Given the description of an element on the screen output the (x, y) to click on. 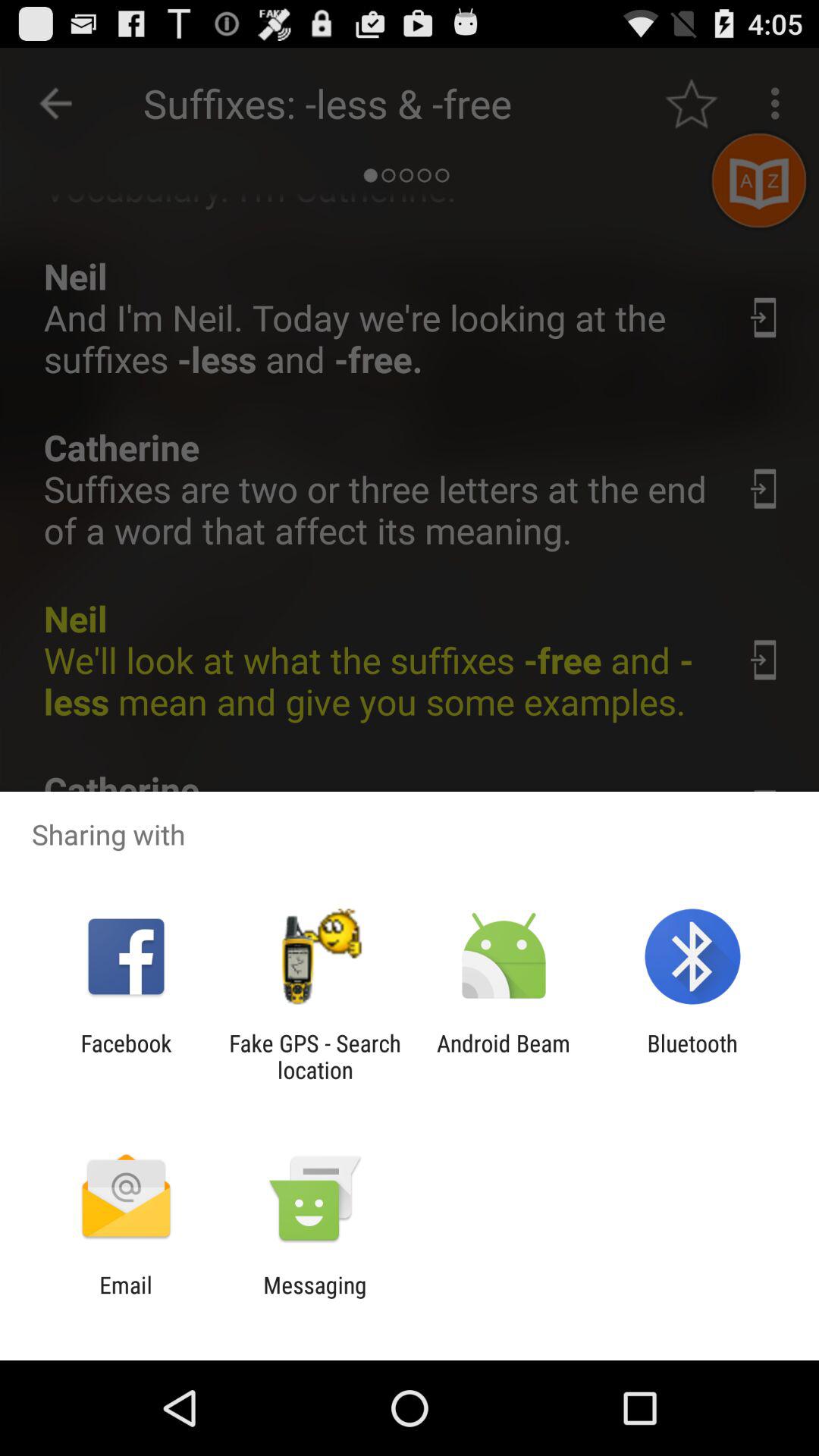
launch the icon to the left of messaging (125, 1298)
